Given the description of an element on the screen output the (x, y) to click on. 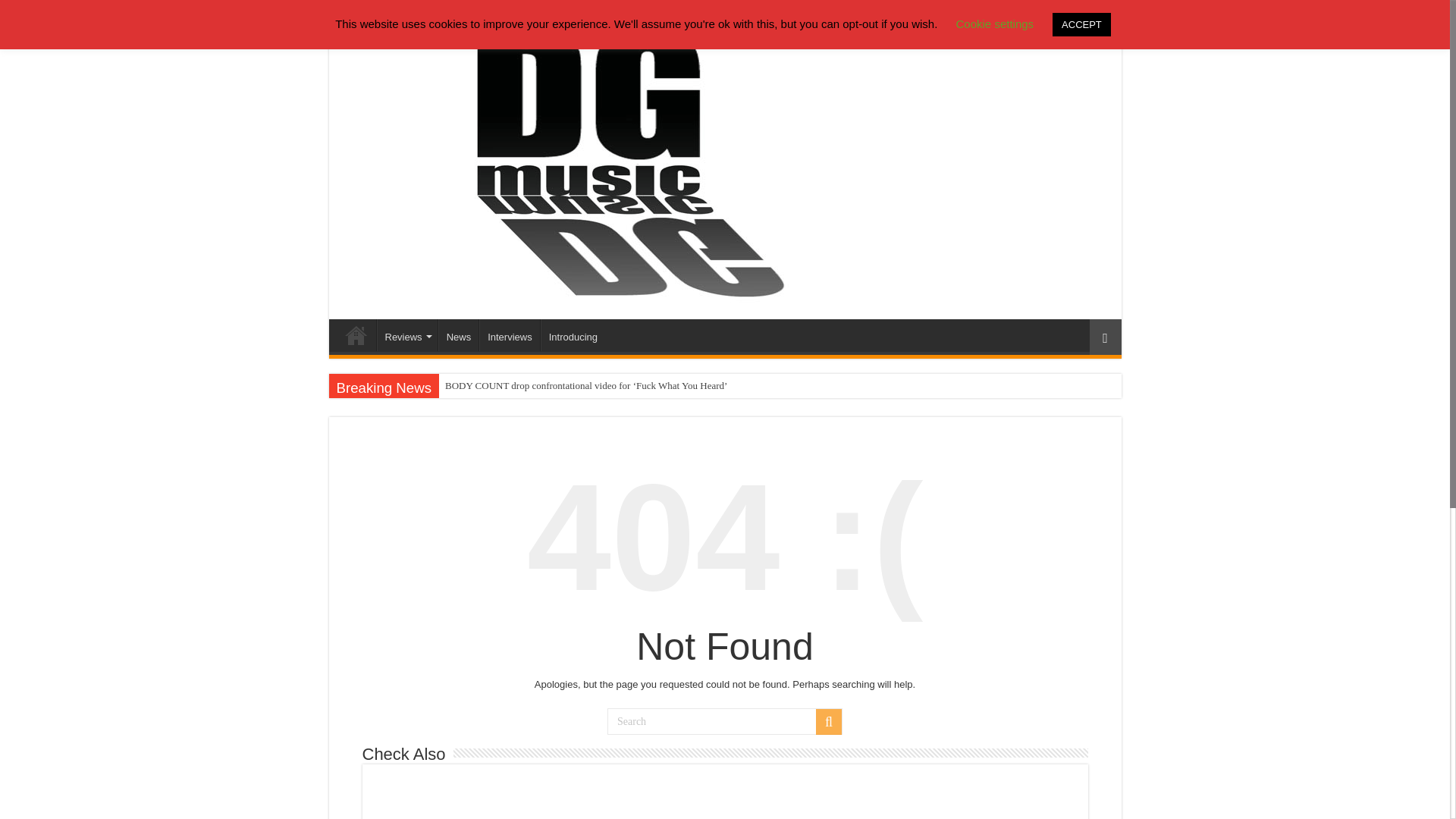
Reviews (405, 335)
Devils Gate Music (355, 335)
Interviews (509, 335)
Introducing (572, 335)
Search (725, 721)
Search (828, 721)
News (458, 335)
